Given the description of an element on the screen output the (x, y) to click on. 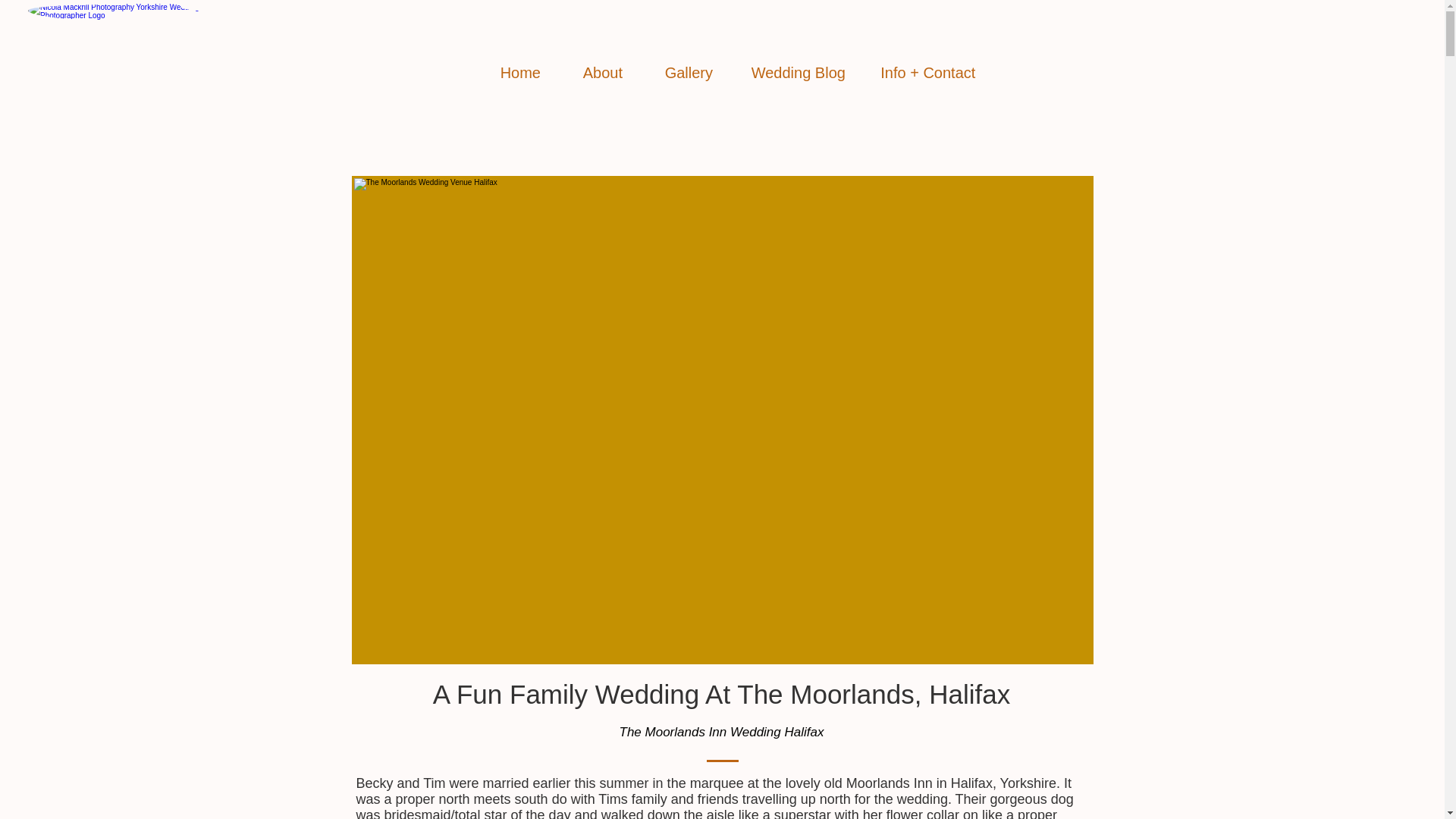
Wedding Blog (798, 72)
About (601, 72)
Gallery (688, 72)
Home (519, 72)
